Given the description of an element on the screen output the (x, y) to click on. 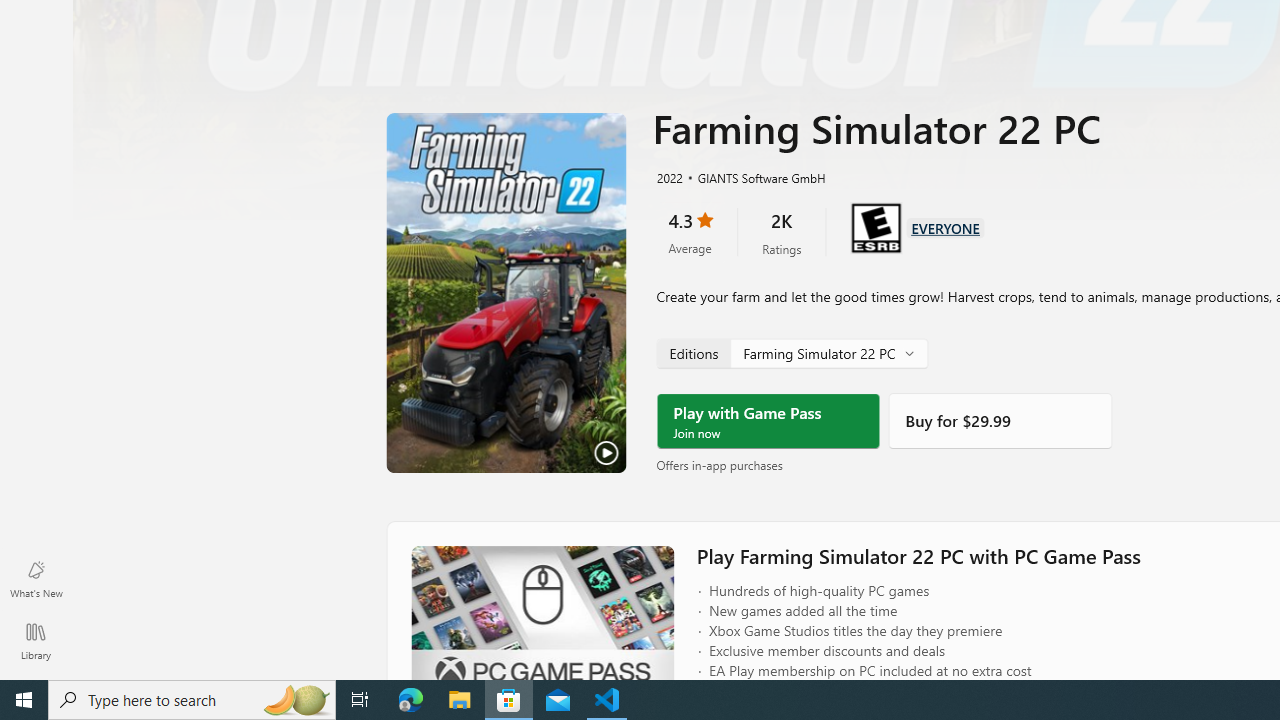
Play Trailer (505, 293)
Play with Game Pass (767, 421)
Age rating: EVERYONE. Click for more information. (945, 226)
4.3 stars. Click to skip to ratings and reviews (689, 232)
Buy (1000, 421)
2022 (667, 177)
Farming Simulator 22 PC, Edition selector (791, 352)
GIANTS Software GmbH (753, 177)
